Given the description of an element on the screen output the (x, y) to click on. 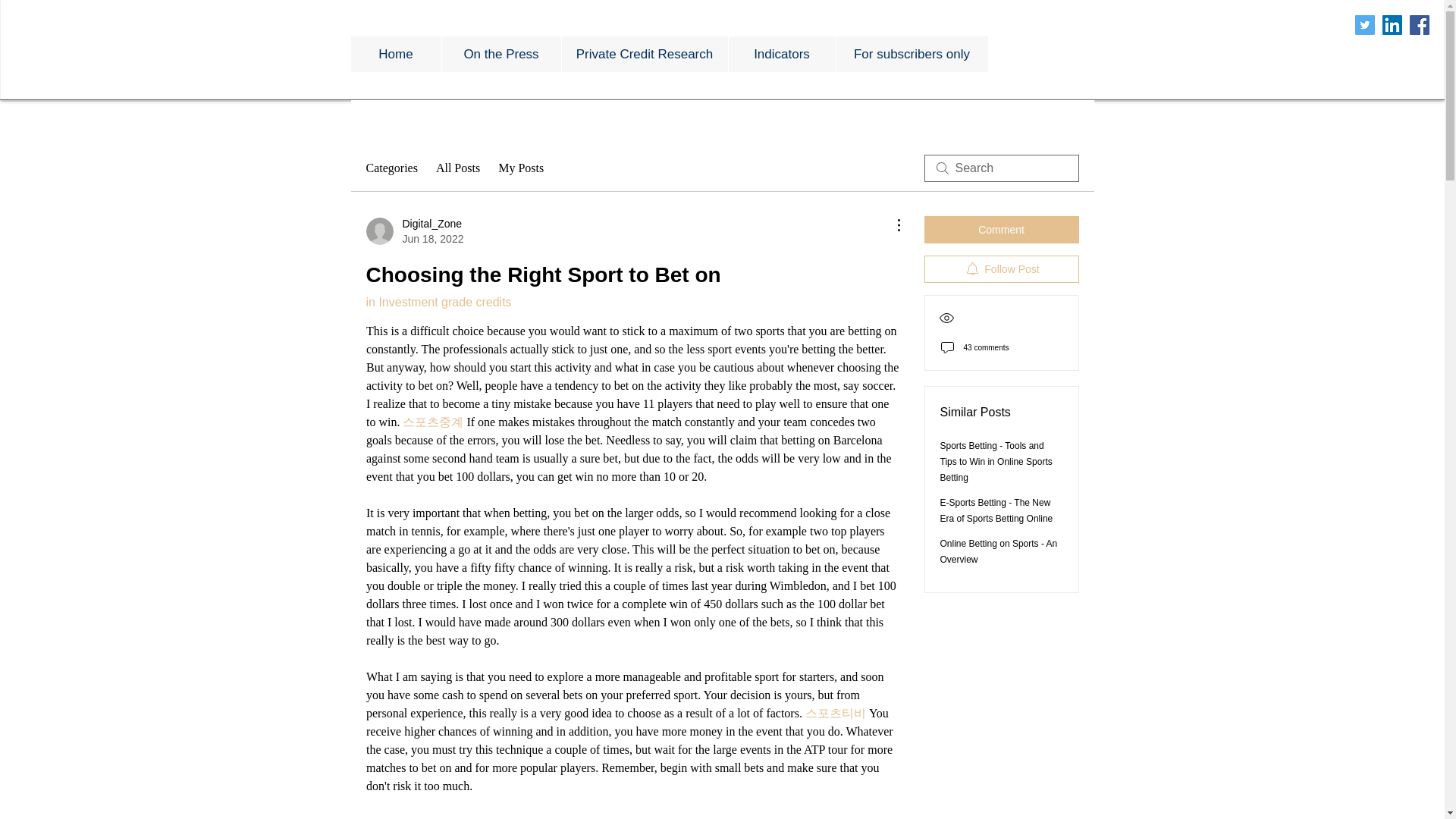
Share (451, 818)
Home (395, 54)
Indicators (781, 54)
On the Press (500, 54)
My Posts (520, 167)
All Posts (457, 167)
Private Credit Research (644, 54)
For subscribers only (911, 54)
Categories (390, 167)
in Investment grade credits (438, 301)
